Given the description of an element on the screen output the (x, y) to click on. 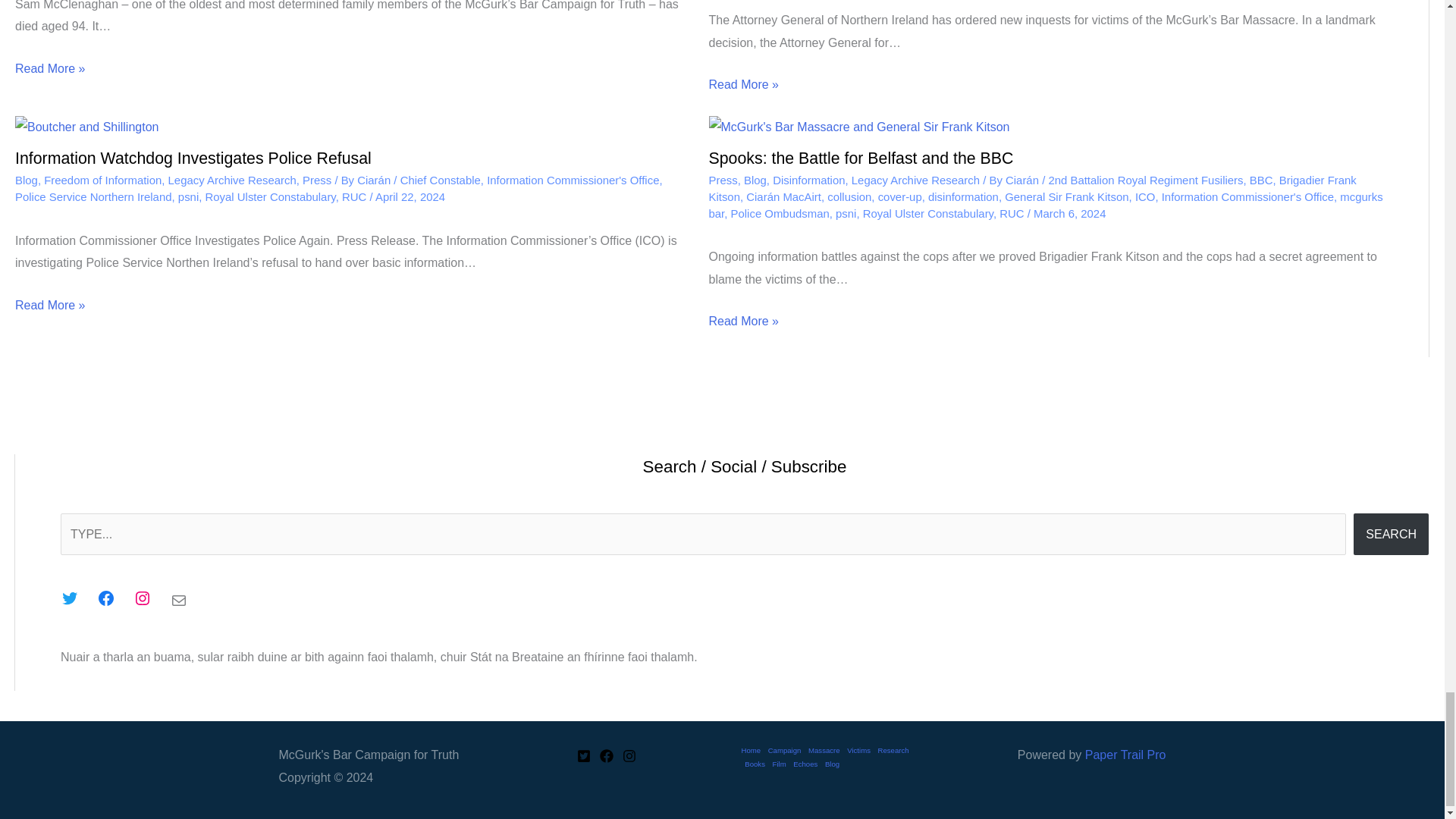
Spooks: the Battle for Belfast and the BBC 8 (858, 127)
Information Watchdog Investigates Police Refusal 6 (86, 127)
